Given the description of an element on the screen output the (x, y) to click on. 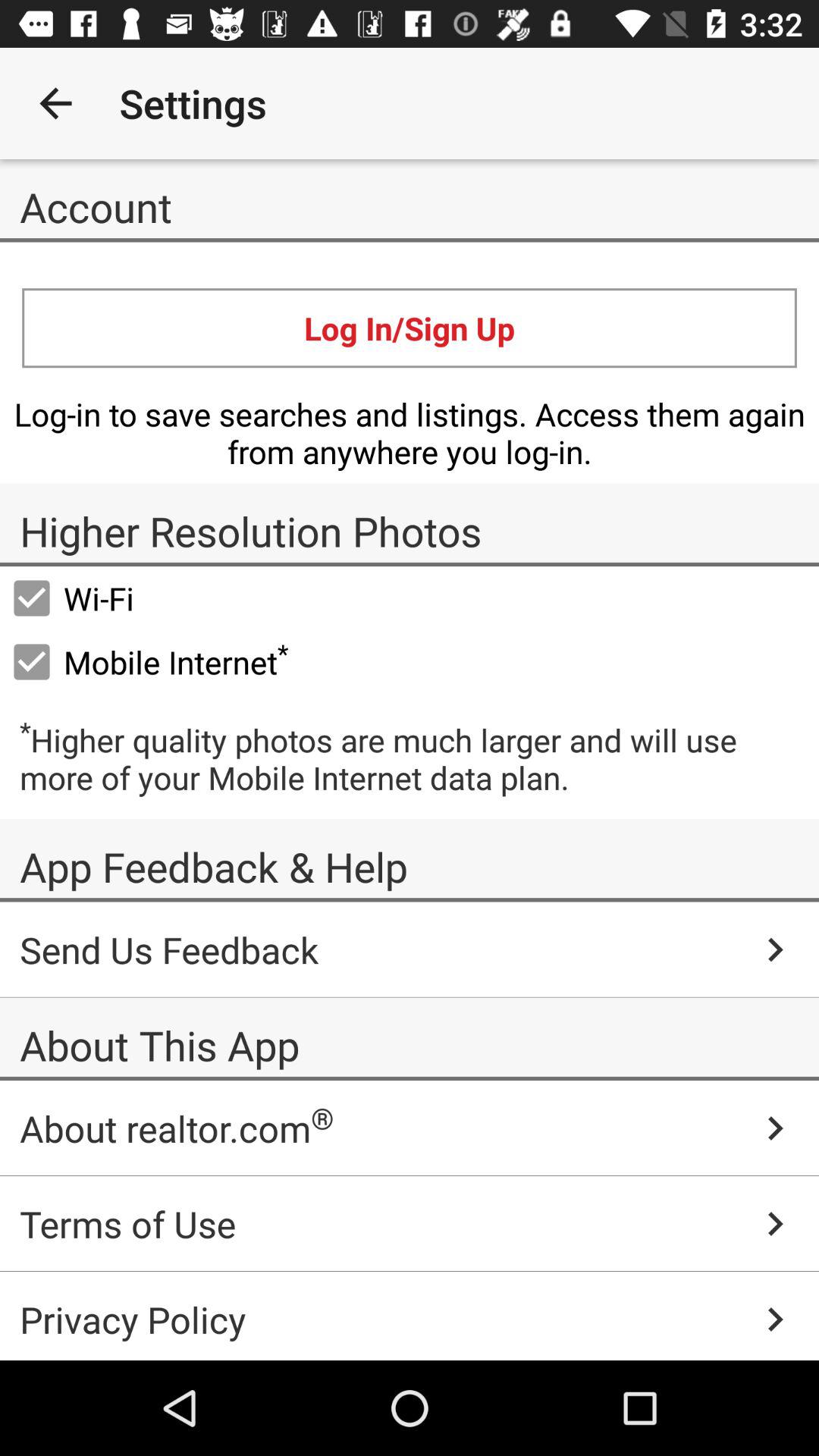
tap icon to the left of settings (55, 103)
